Given the description of an element on the screen output the (x, y) to click on. 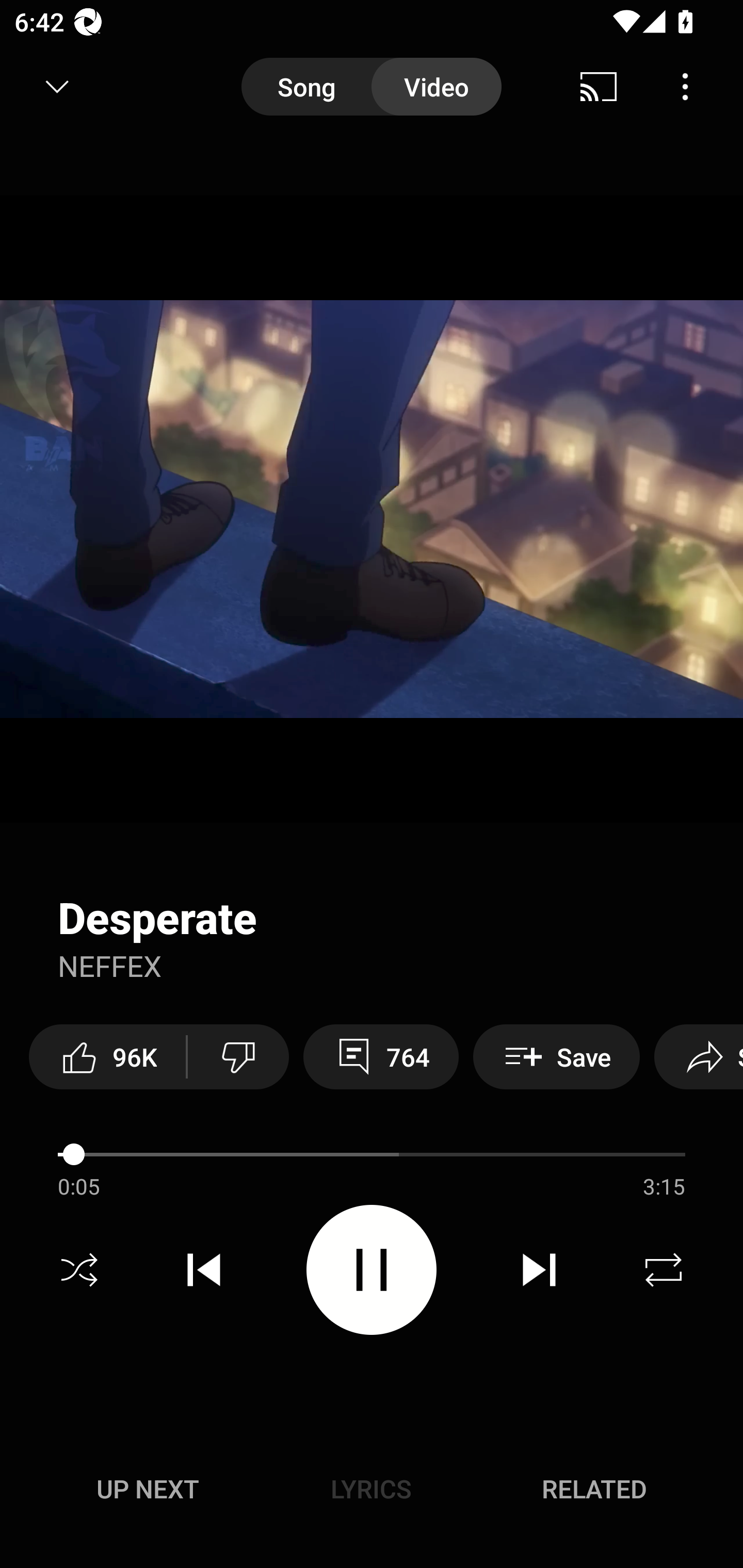
Minimize (57, 86)
Cast. Disconnected (598, 86)
Menu (684, 86)
96K like this video along with 96,234 other people (106, 1056)
Dislike (238, 1056)
764 View 764 comments (380, 1056)
Save Save to playlist (556, 1056)
Share (698, 1056)
Pause video (371, 1269)
Shuffle off (79, 1269)
Previous track (203, 1269)
Next track (538, 1269)
Repeat off (663, 1269)
Up next UP NEXT Lyrics LYRICS Related RELATED (371, 1491)
Lyrics LYRICS (370, 1488)
Related RELATED (594, 1488)
